Given the description of an element on the screen output the (x, y) to click on. 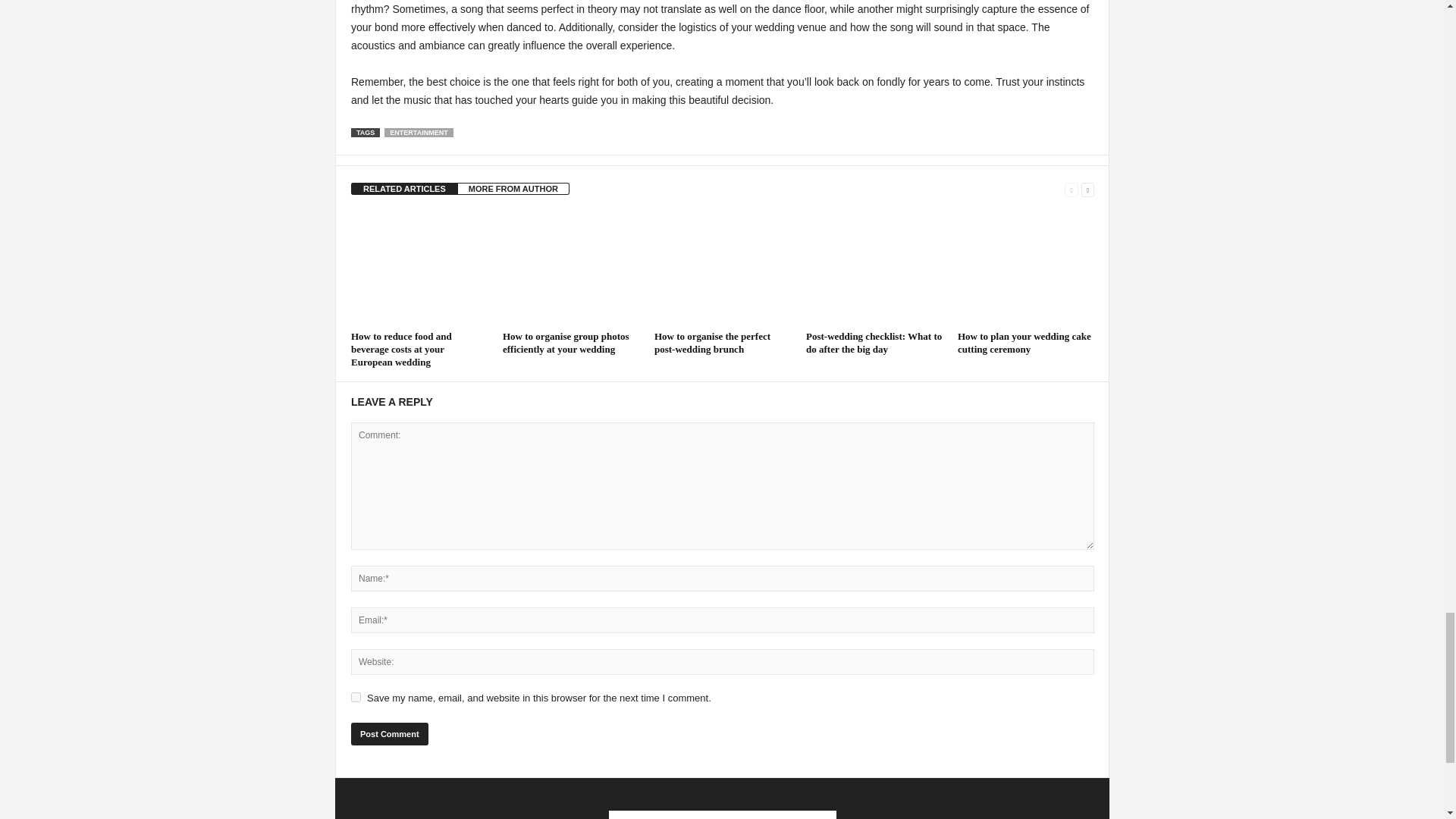
Post Comment (389, 733)
yes (355, 696)
